Given the description of an element on the screen output the (x, y) to click on. 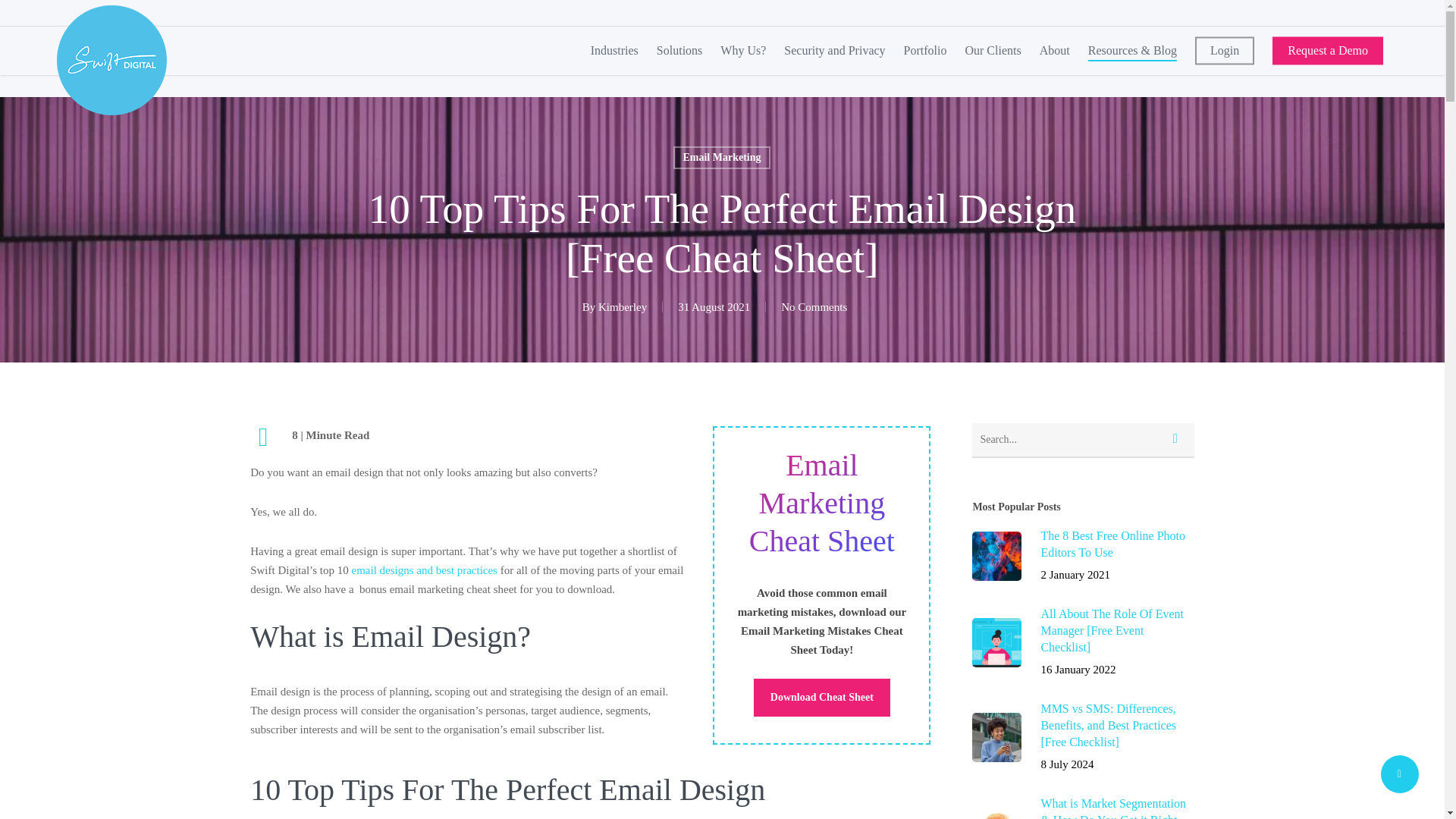
Solutions (678, 50)
Industries (615, 50)
Posts by Kimberley (622, 306)
Search for: (1082, 440)
